Given the description of an element on the screen output the (x, y) to click on. 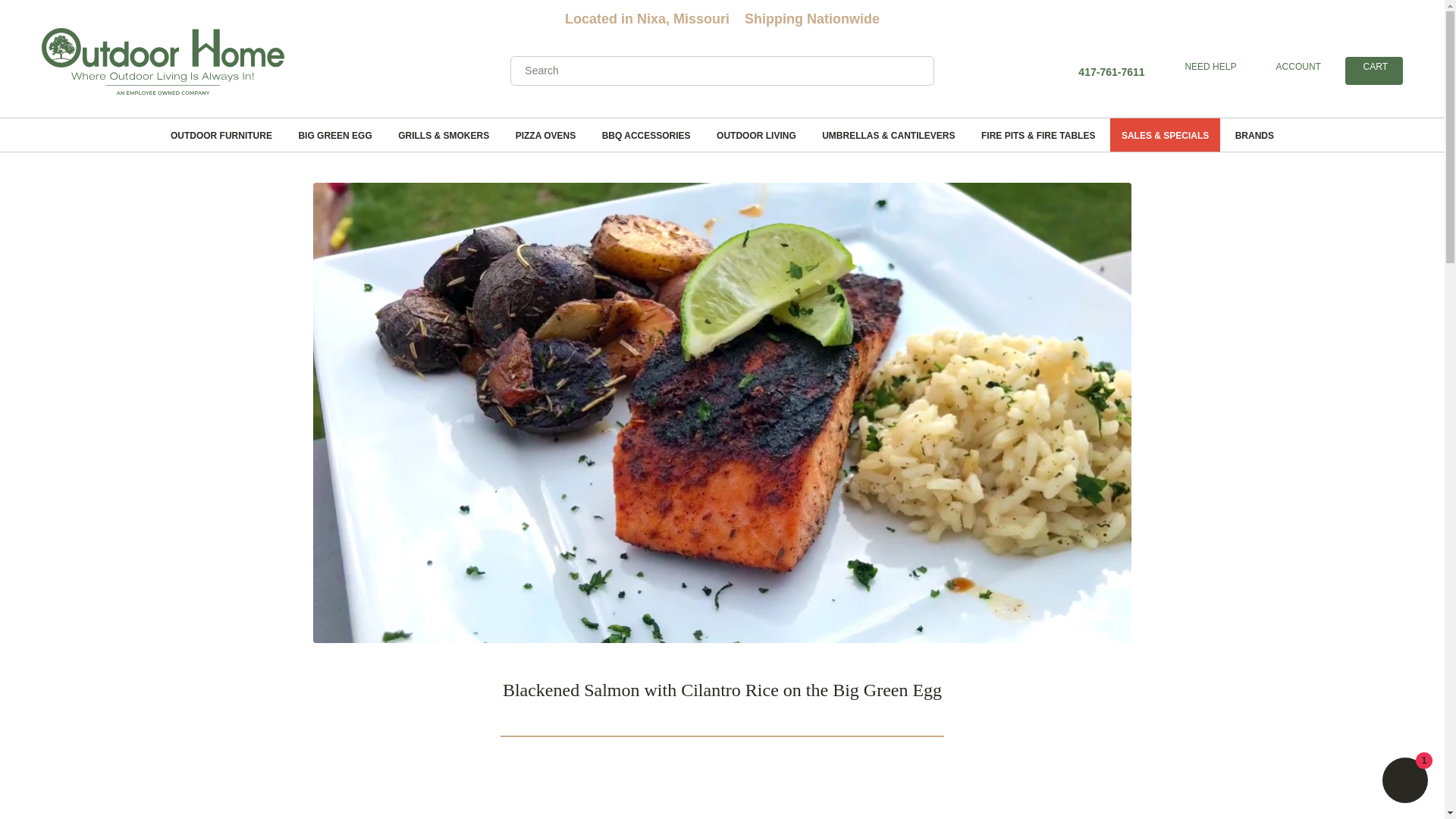
 417-761-7611 (1109, 71)
Shopify online store chat (1373, 66)
 NEED HELP (1297, 66)
